Given the description of an element on the screen output the (x, y) to click on. 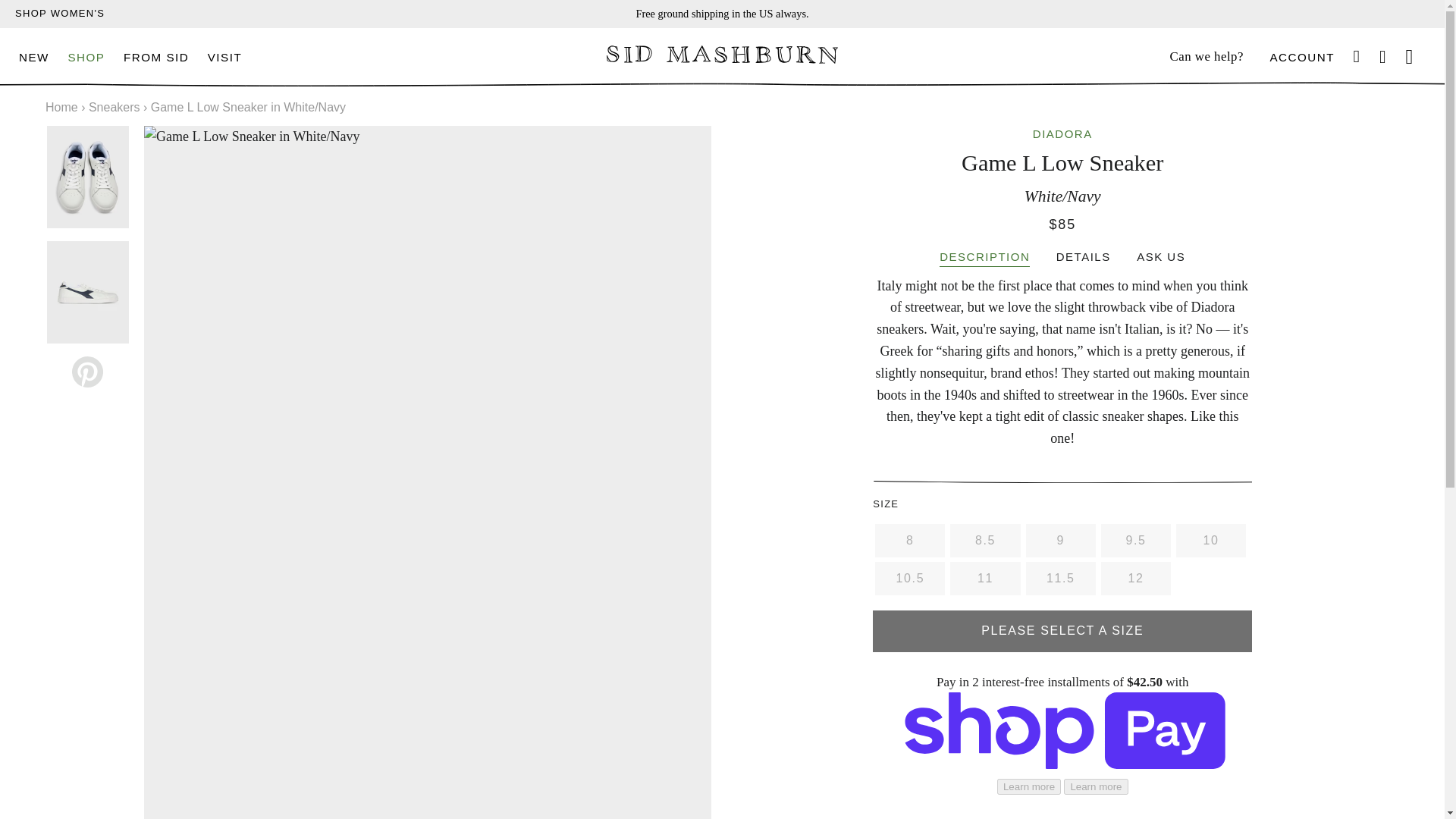
Home (61, 106)
Diadora (1062, 133)
Pin on Pinterest (87, 371)
